Given the description of an element on the screen output the (x, y) to click on. 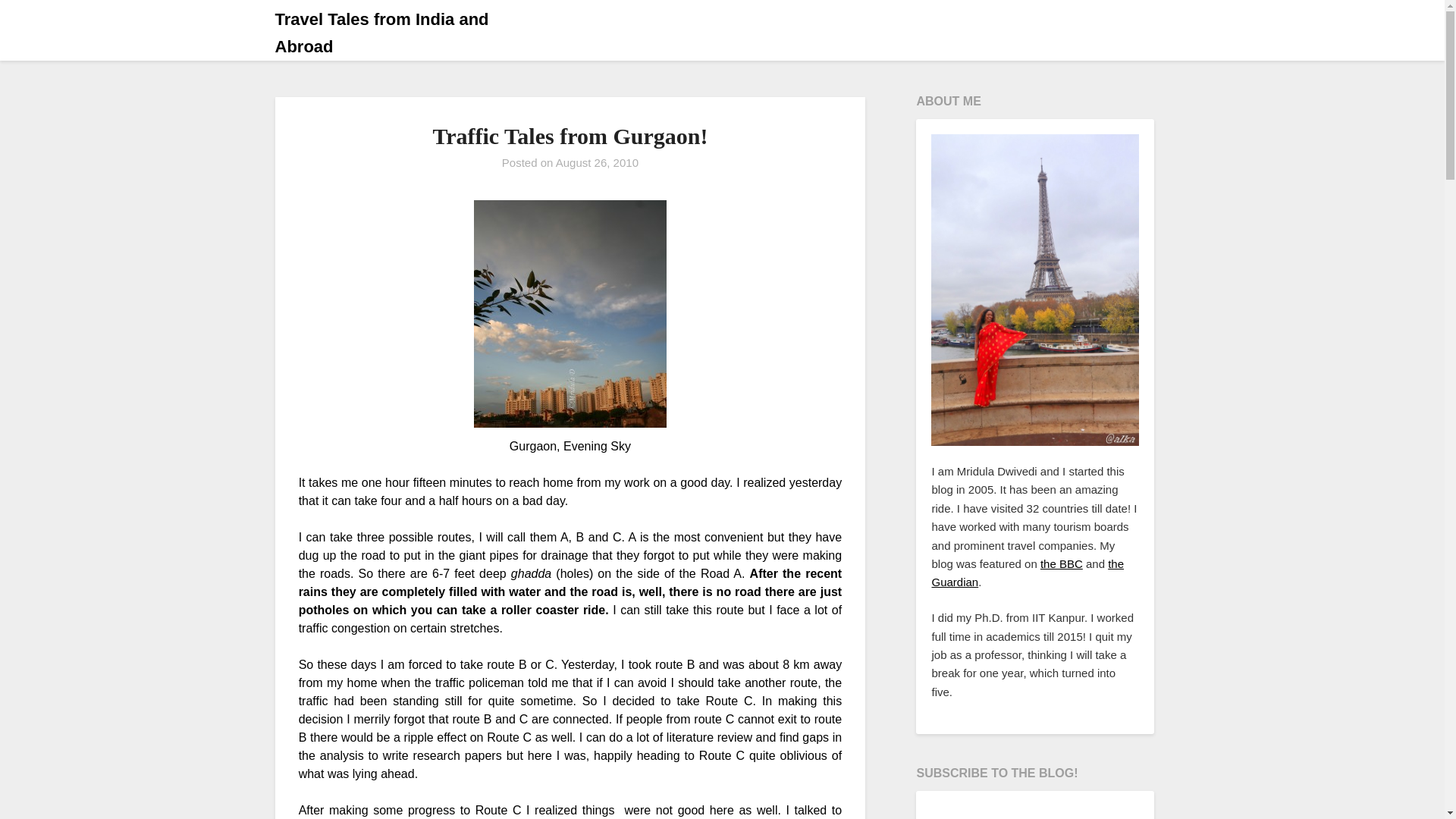
August 26, 2010 (597, 162)
Travel Tales from India and Abroad (409, 32)
